Given the description of an element on the screen output the (x, y) to click on. 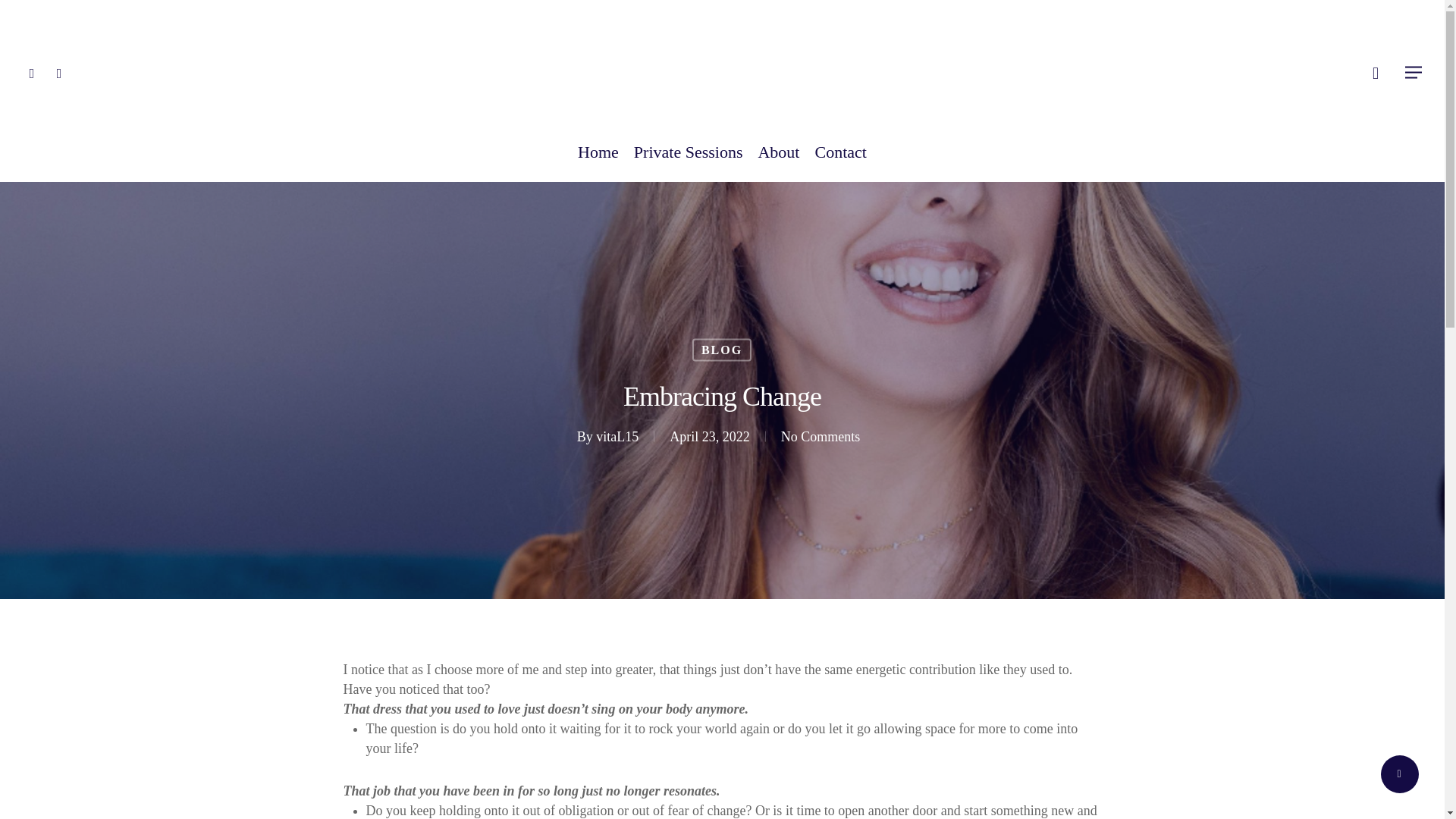
Contact (839, 160)
Terms and Conditions (402, 794)
Posts by vitaL15 (617, 436)
vitaL15 (617, 436)
Home (598, 160)
BLOG (722, 349)
About (777, 160)
Private Sessions (688, 160)
No Comments (820, 436)
SIGN UP TO NEWSLETTER (1042, 663)
